Given the description of an element on the screen output the (x, y) to click on. 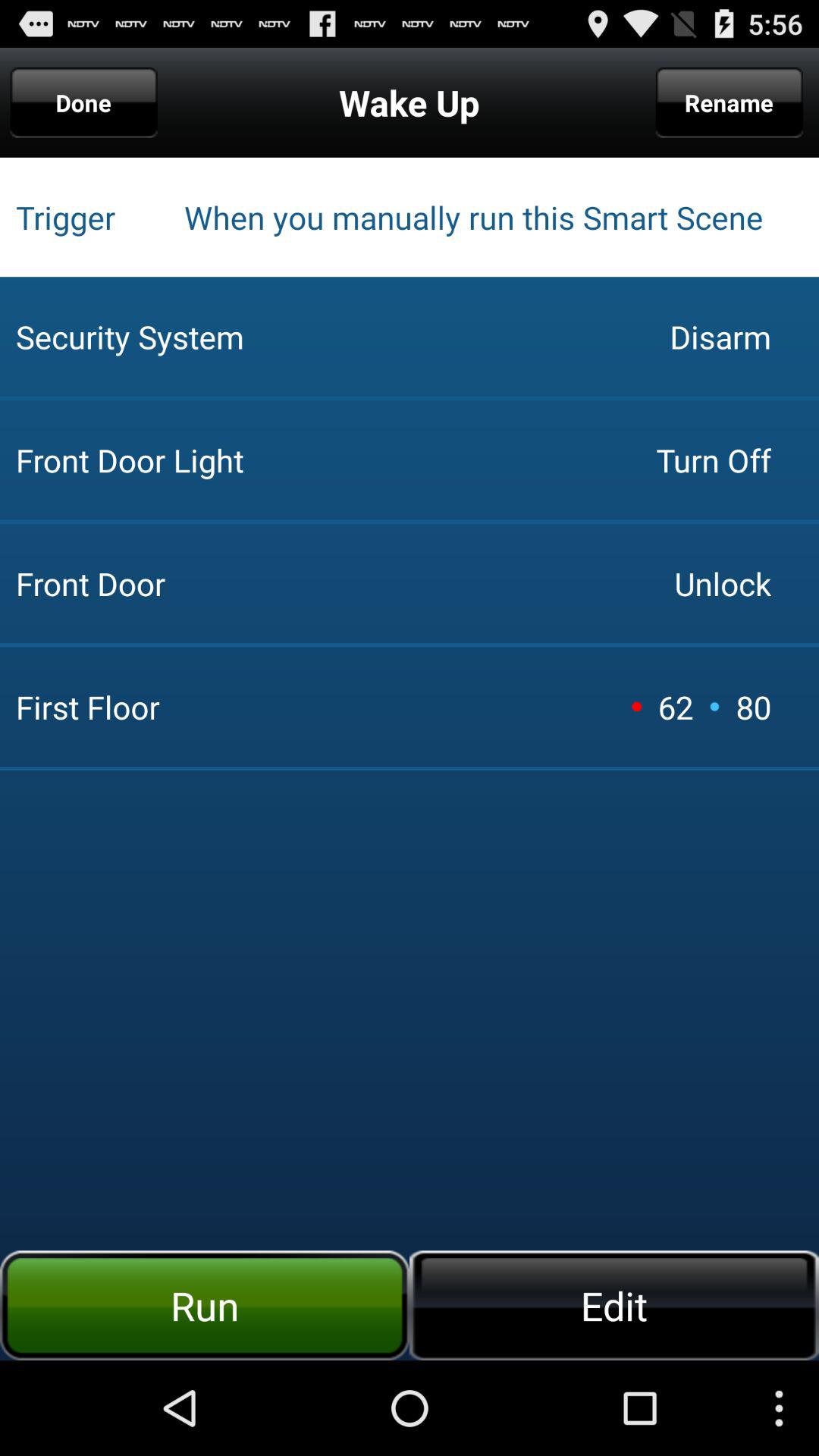
launch unlock app (722, 583)
